Given the description of an element on the screen output the (x, y) to click on. 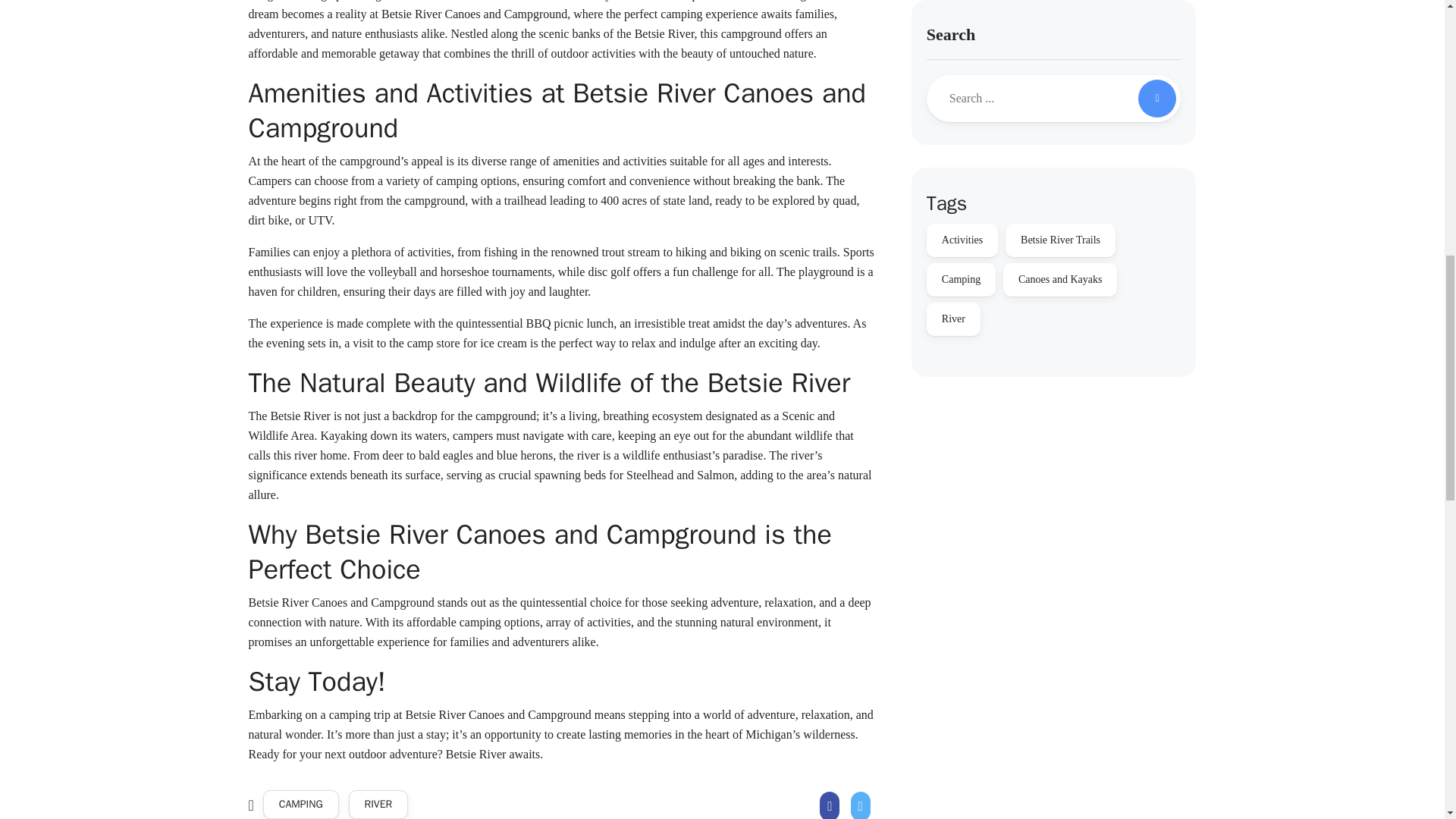
RIVER (379, 804)
CAMPING (301, 804)
